Given the description of an element on the screen output the (x, y) to click on. 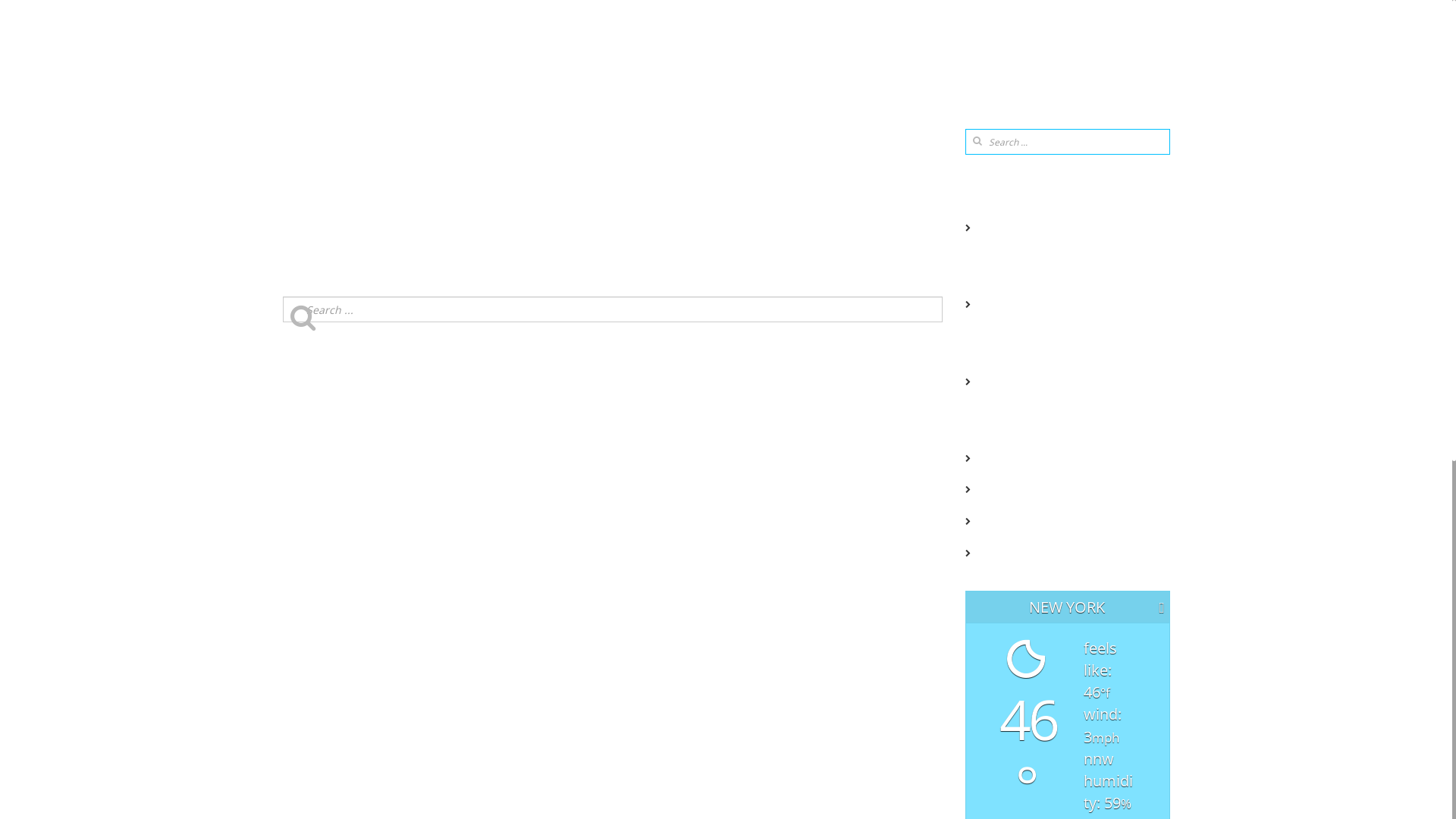
Log in Element type: text (984, 457)
Comments feed Element type: text (1006, 520)
Uncategorized Element type: text (1003, 380)
246 W 38th Street Element type: text (1010, 226)
April 2019 Element type: text (992, 303)
WordPress.org Element type: text (1004, 551)
Entries feed Element type: text (997, 488)
